Given the description of an element on the screen output the (x, y) to click on. 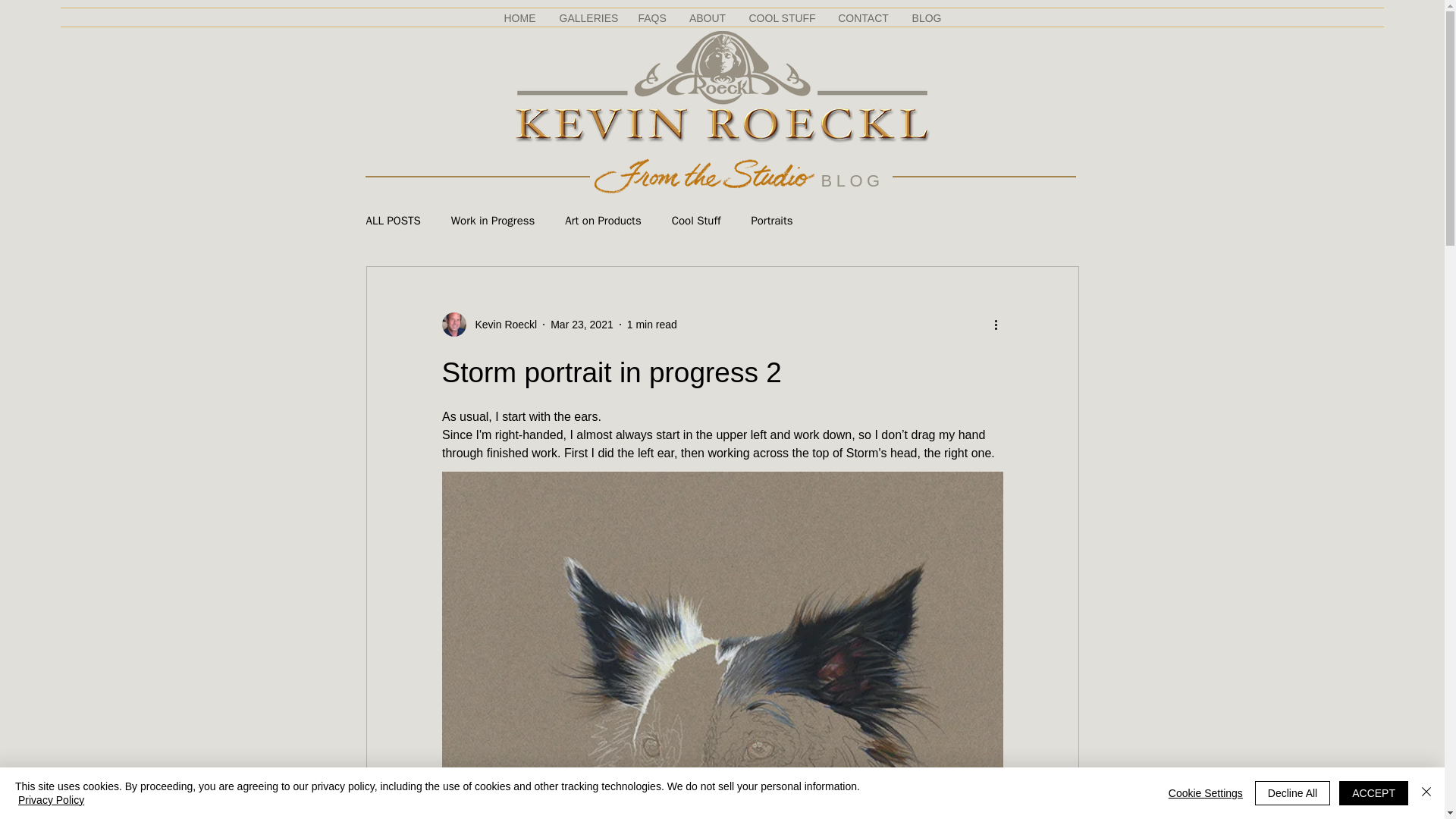
ALL POSTS (392, 220)
Portraits (771, 220)
ABOUT (708, 17)
Cool Stuff (695, 220)
CONTACT (864, 17)
Art on Products (602, 220)
Kevin Roeckl (501, 324)
GALLERIES (586, 17)
1 min read (652, 324)
Work in Progress (493, 220)
